Given the description of an element on the screen output the (x, y) to click on. 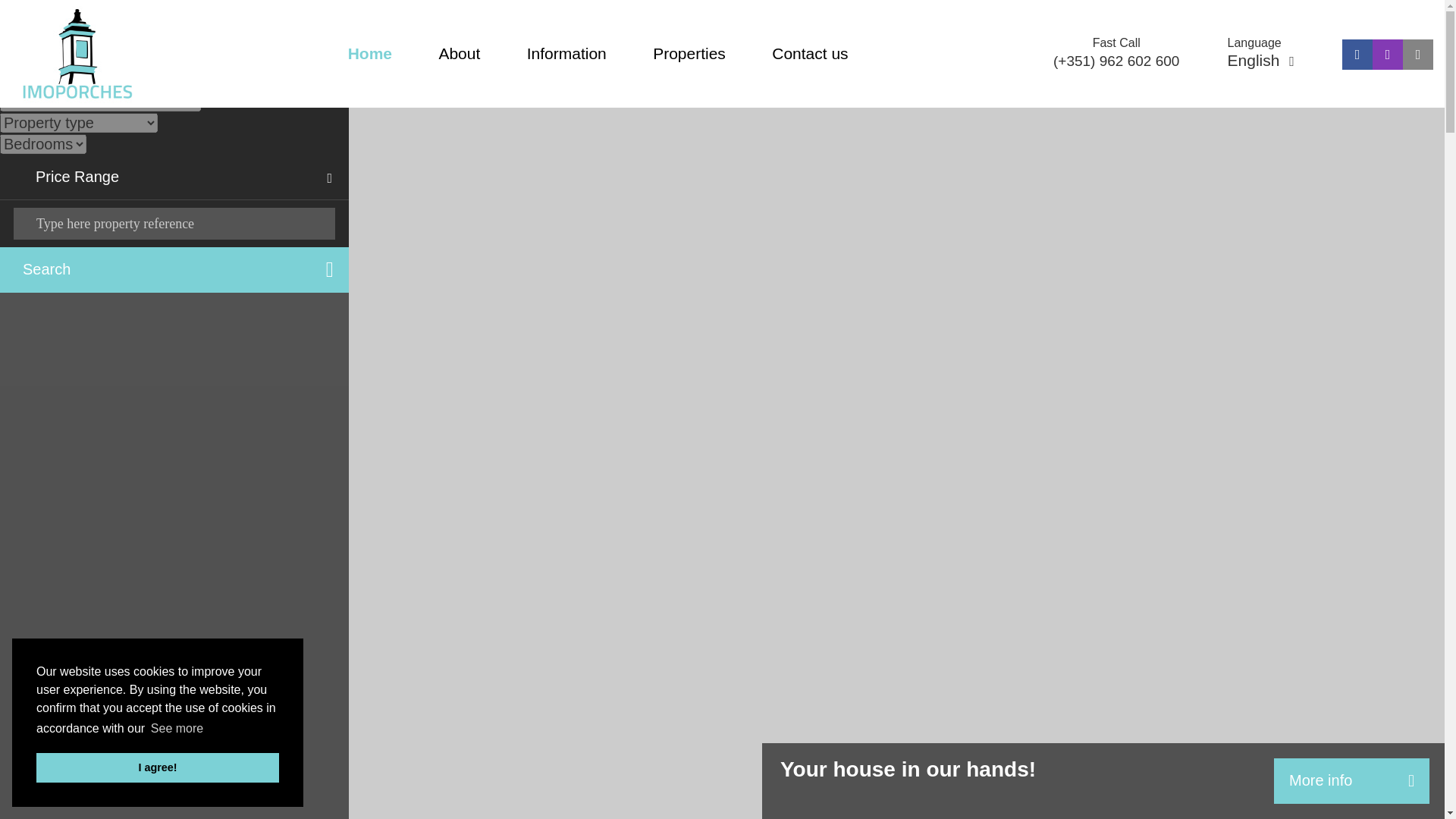
Properties (688, 53)
I agree! (157, 767)
English (1260, 60)
Contact us (809, 53)
Price Range   (174, 176)
Information (567, 53)
Search (174, 269)
About (459, 53)
See more (177, 728)
Home (369, 53)
